Given the description of an element on the screen output the (x, y) to click on. 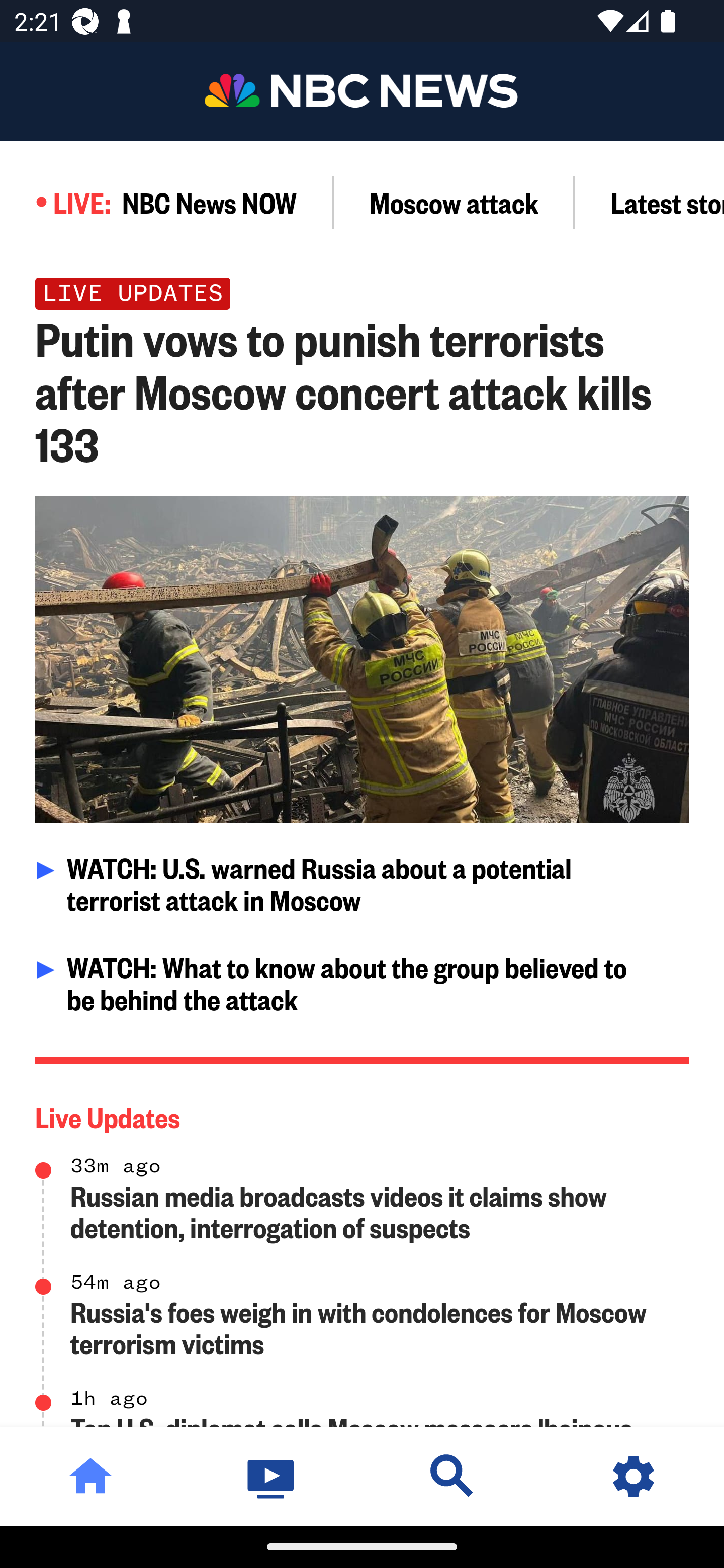
LIVE:  NBC News NOW (166, 202)
Moscow attack (453, 202)
Latest stories Section,Latest stories (649, 202)
Watch (271, 1475)
Discover (452, 1475)
Settings (633, 1475)
